Given the description of an element on the screen output the (x, y) to click on. 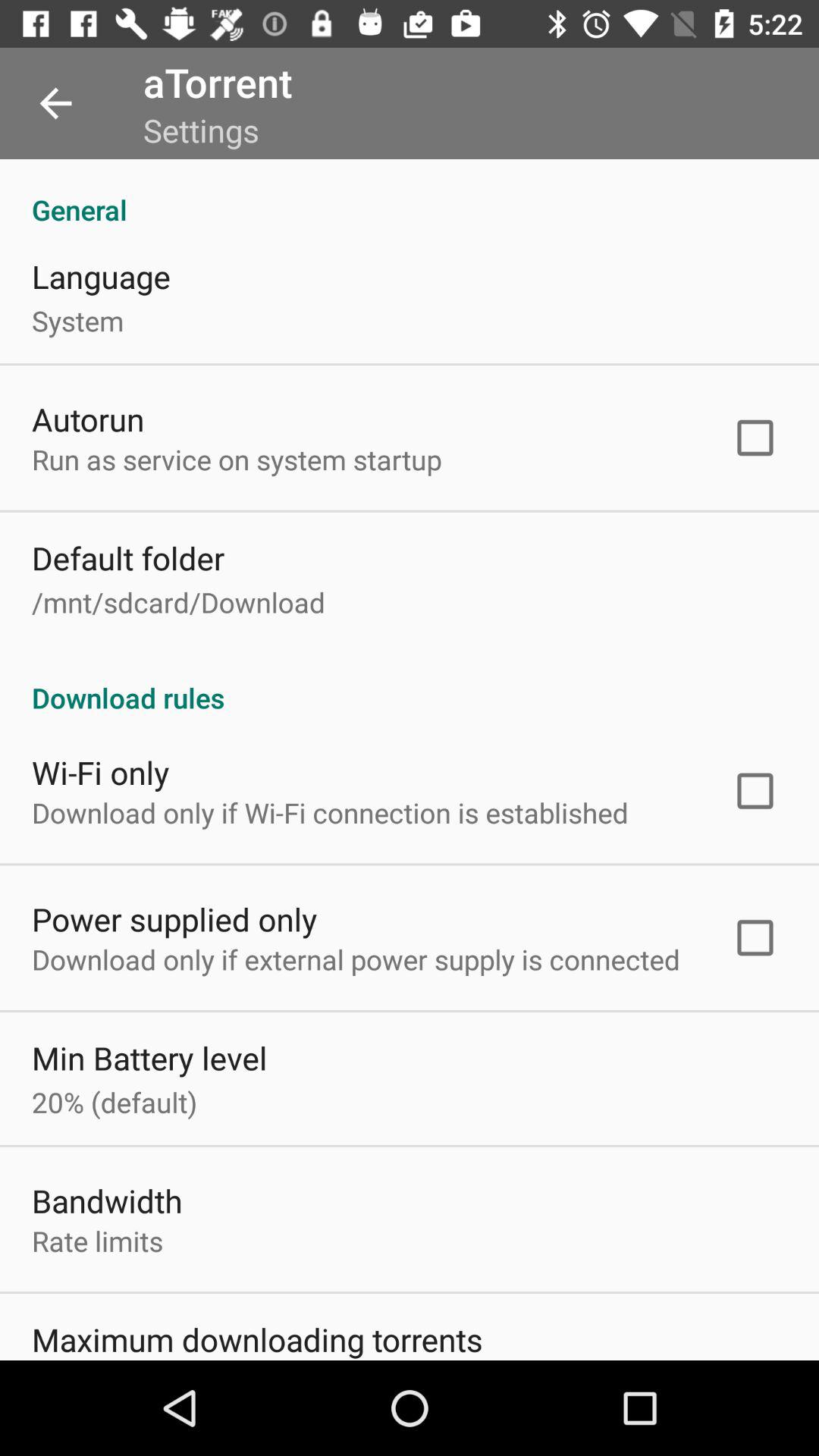
turn off the 20% (default) icon (114, 1102)
